Given the description of an element on the screen output the (x, y) to click on. 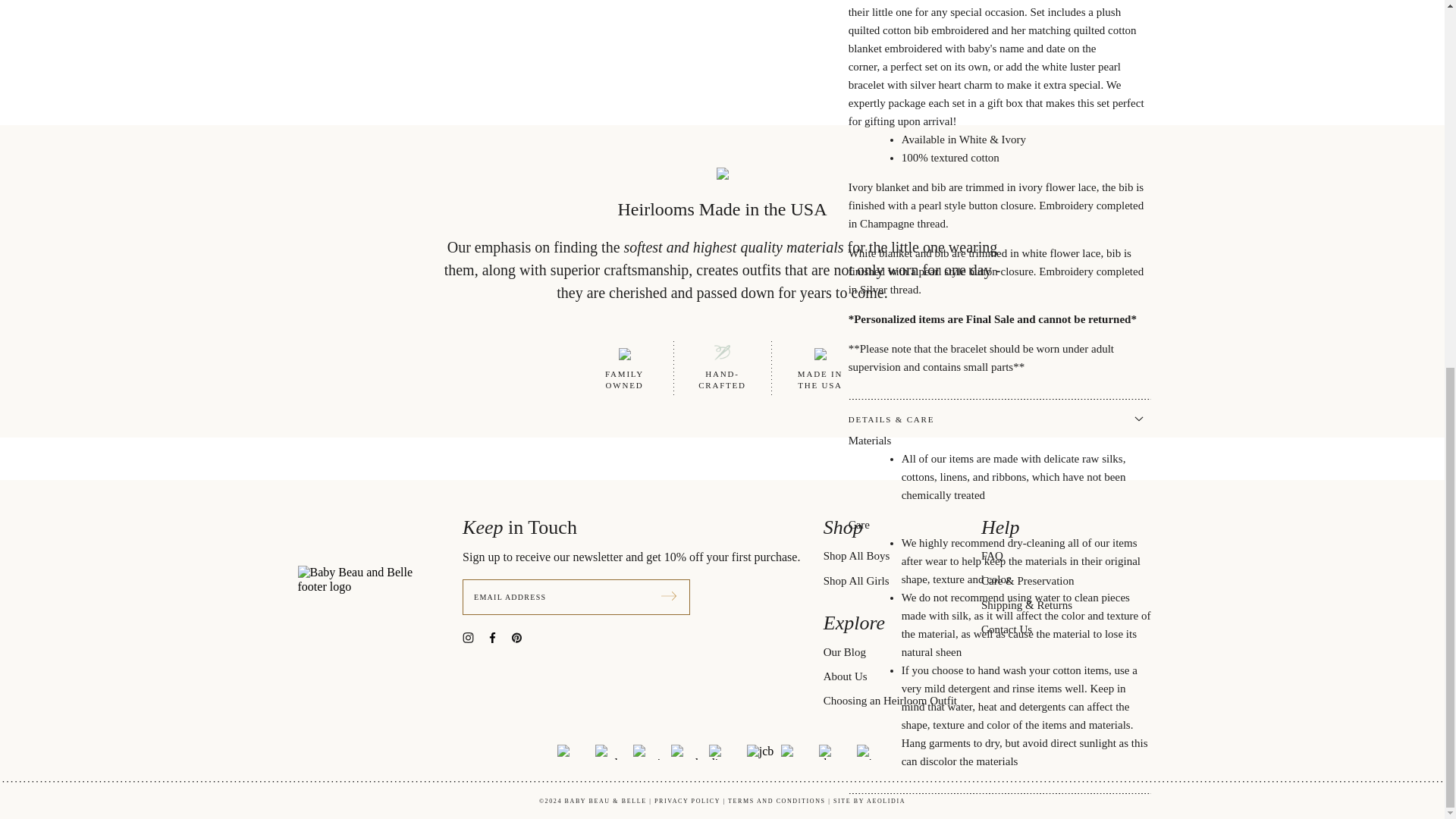
Baby Beau and Belle on Facebook (498, 635)
Baby Beau and Belle on Instagram (474, 635)
arrow icon (669, 595)
